Given the description of an element on the screen output the (x, y) to click on. 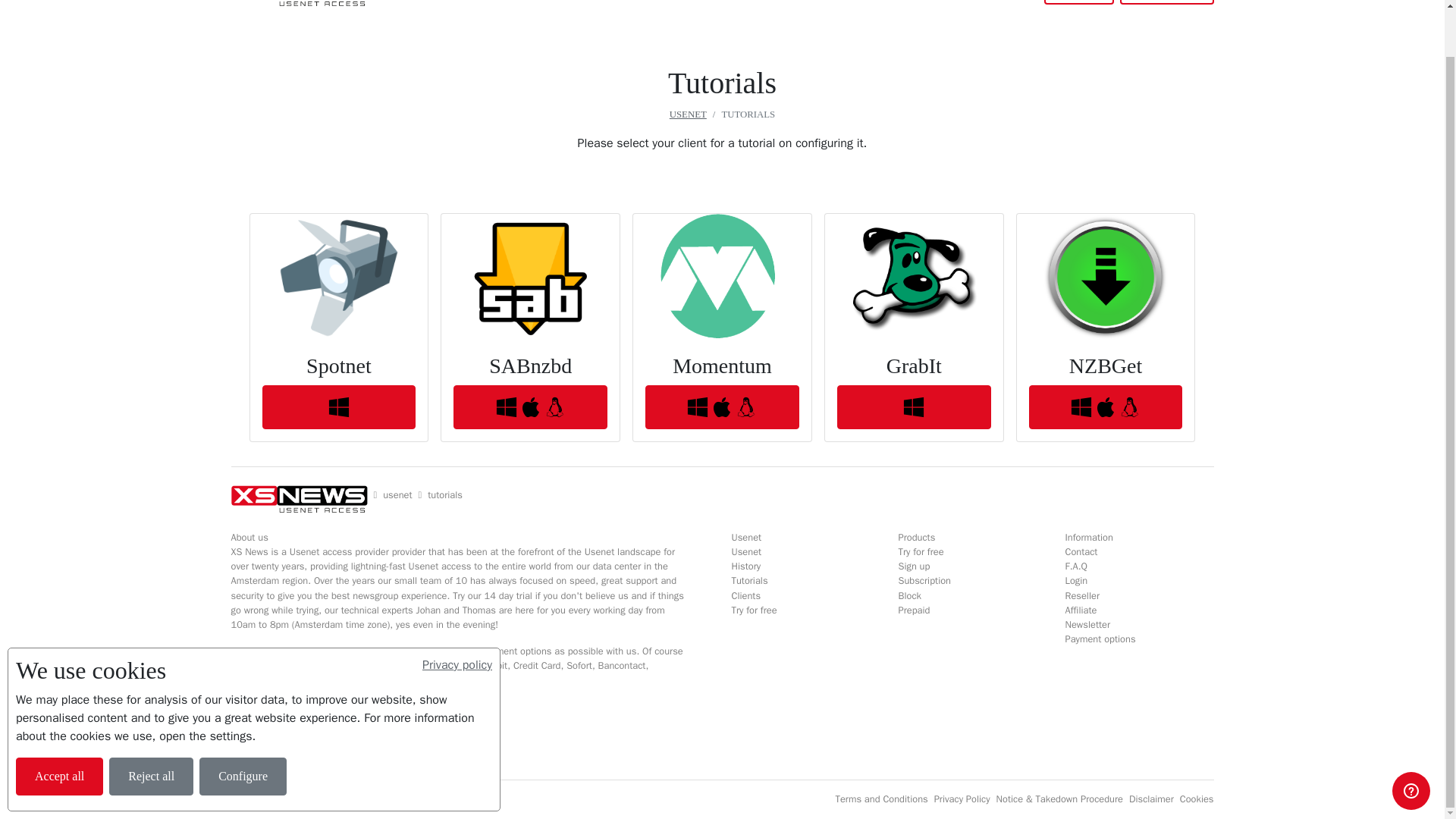
USENET (687, 113)
LOGIN (1078, 2)
usenet (397, 495)
USENET  (405, 1)
HELP (515, 1)
PRODUCTS (465, 1)
3DAY (593, 1)
tutorials (445, 495)
TRIAL (554, 1)
